Given the description of an element on the screen output the (x, y) to click on. 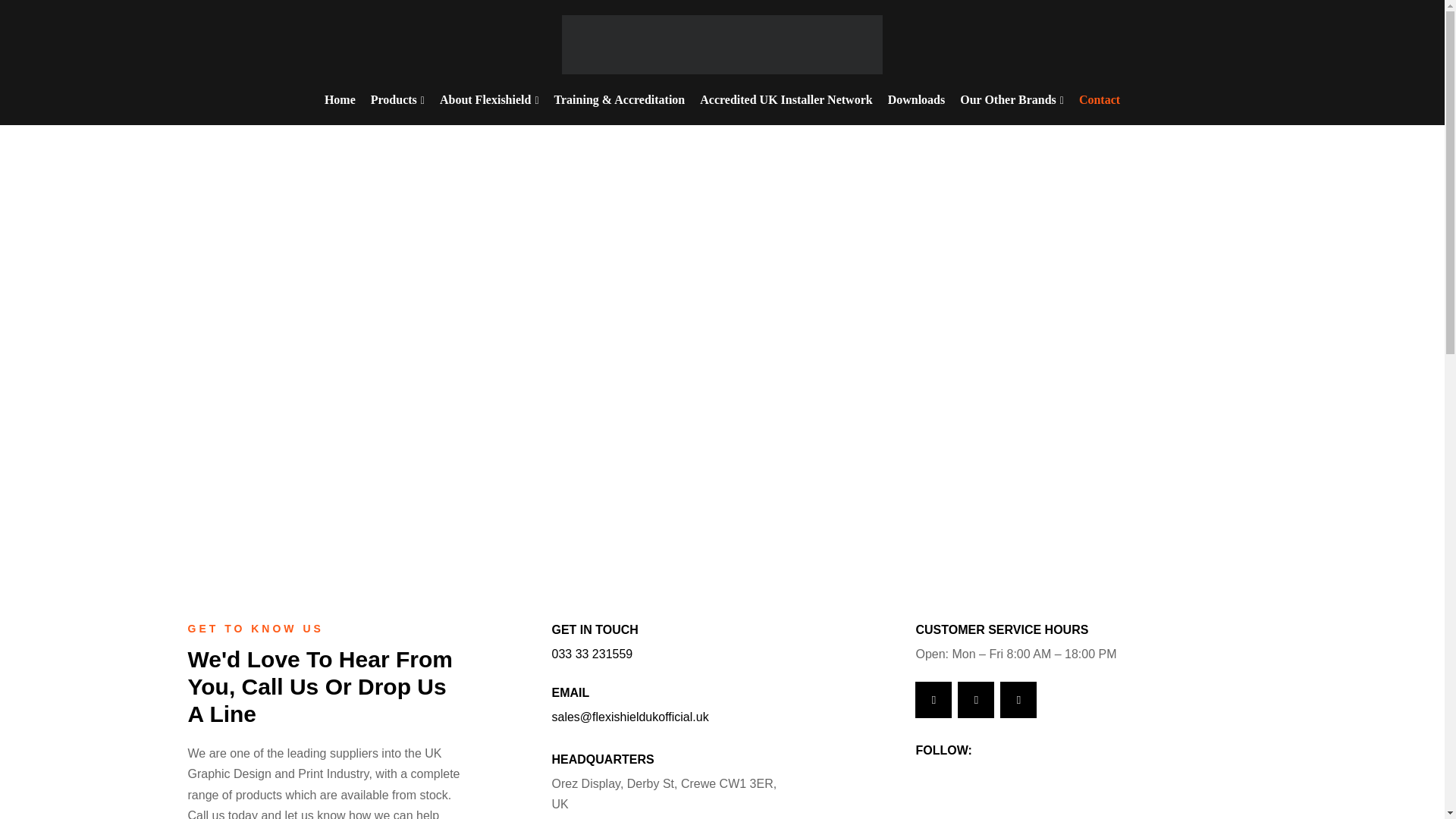
Contact (1098, 99)
About Flexishield (489, 99)
Products (397, 99)
Accredited UK Installer Network (786, 99)
Our Other Brands (1011, 99)
Downloads (916, 99)
Home (339, 99)
